Given the description of an element on the screen output the (x, y) to click on. 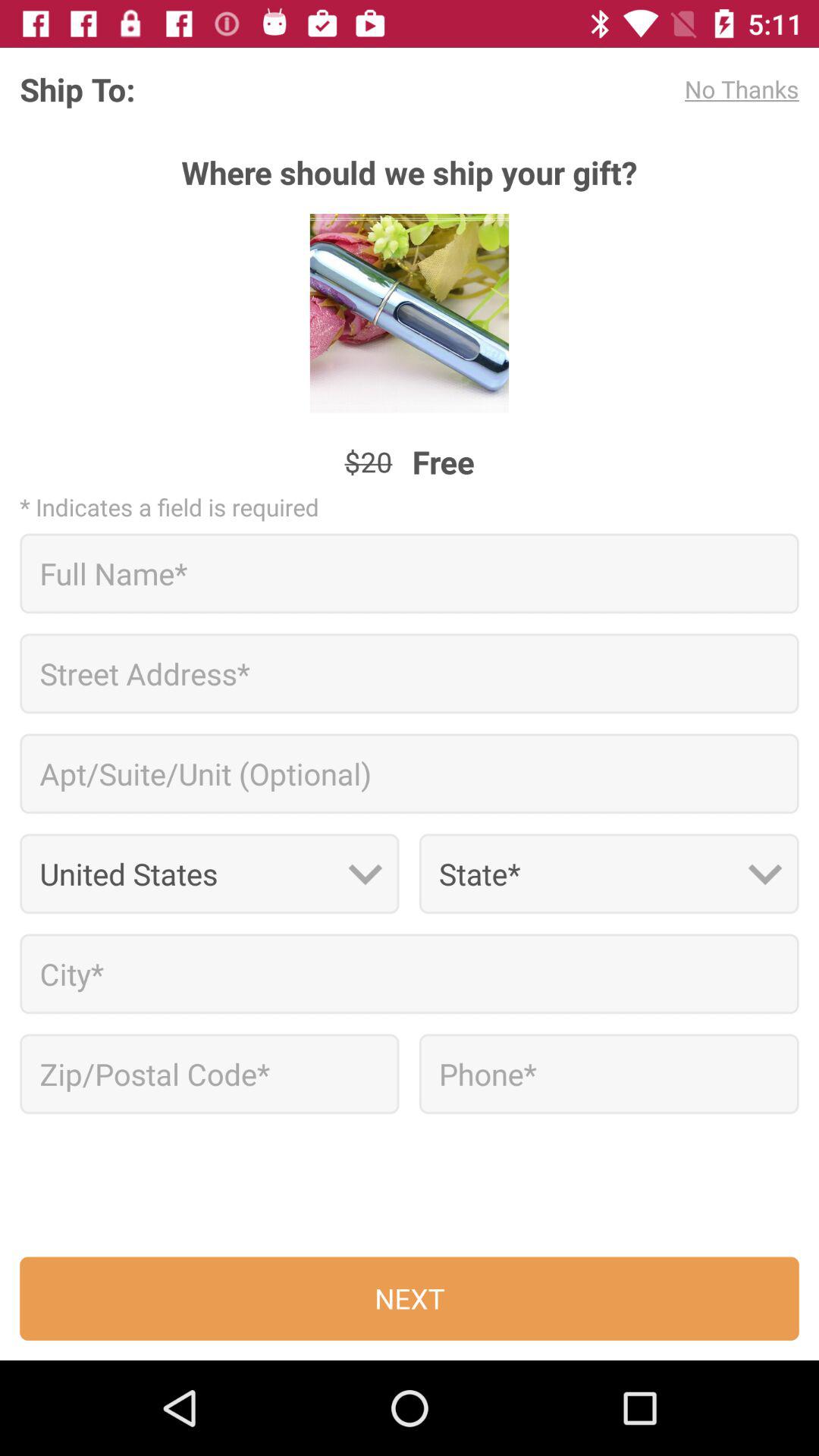
enter street address (409, 673)
